Given the description of an element on the screen output the (x, y) to click on. 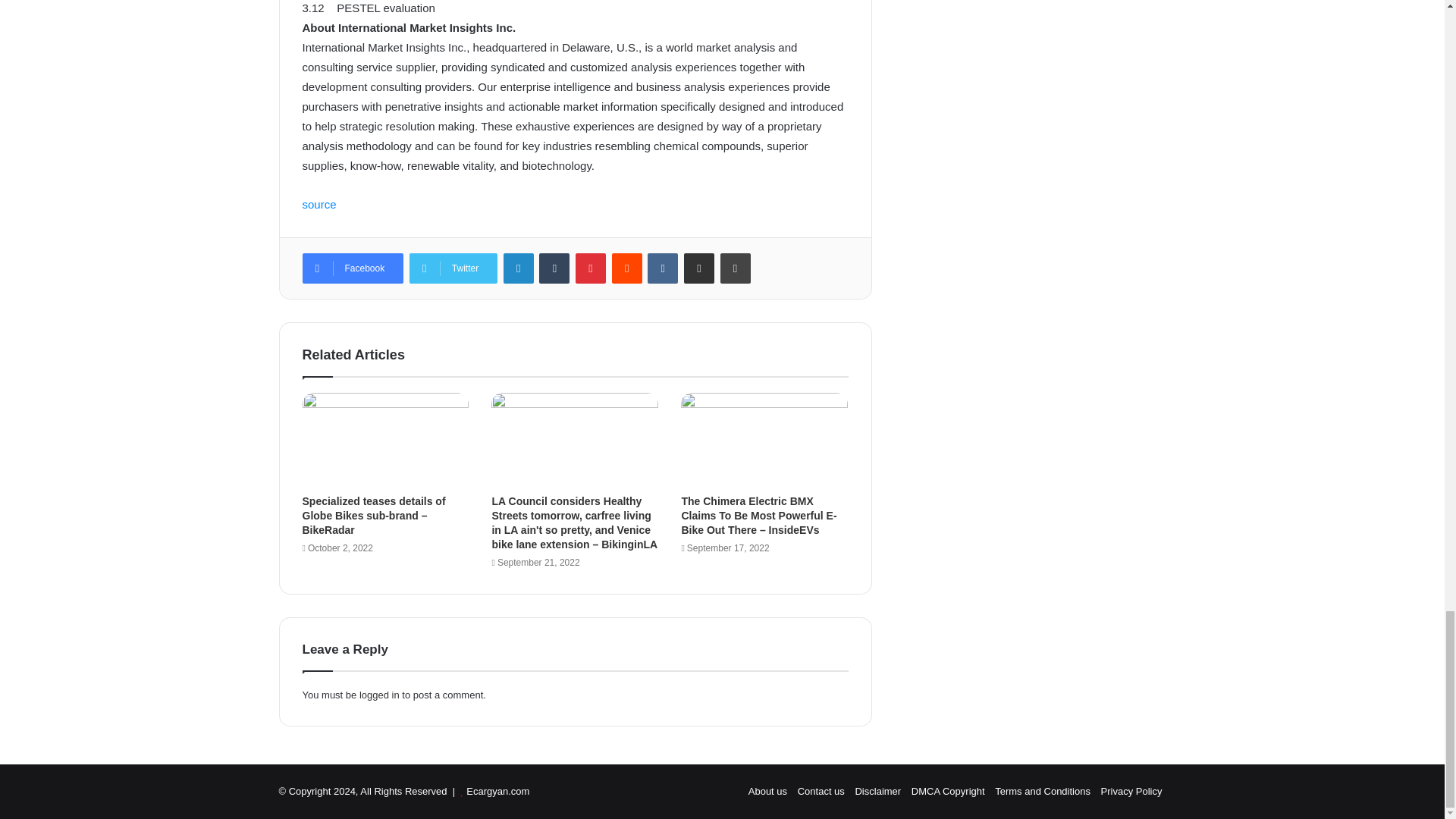
Facebook (352, 268)
VKontakte (662, 268)
Share via Email (699, 268)
Twitter (453, 268)
Twitter (453, 268)
Facebook (352, 268)
source (318, 204)
LinkedIn (518, 268)
Print (735, 268)
Tumblr (553, 268)
